Given the description of an element on the screen output the (x, y) to click on. 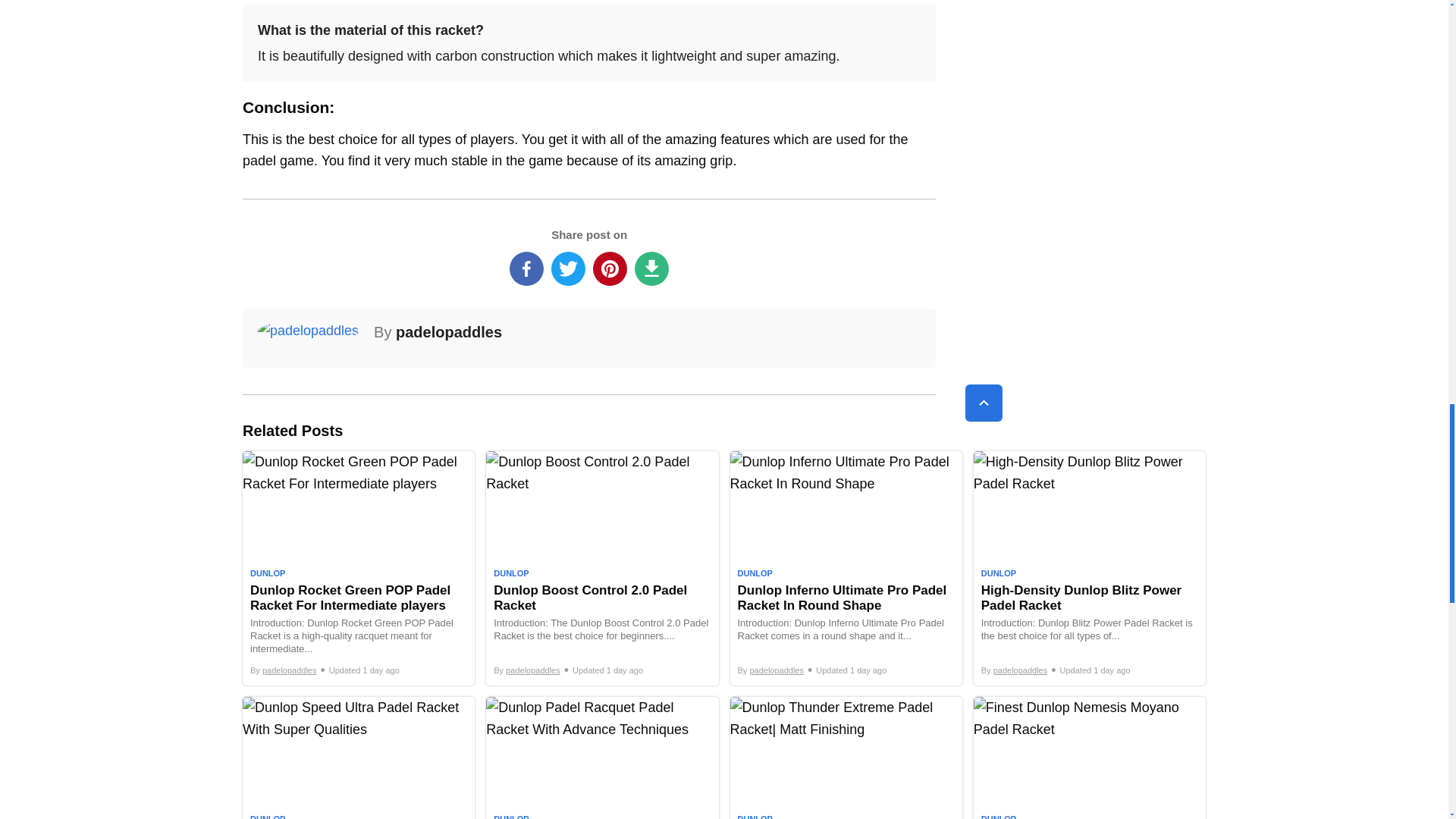
Share on Facebook (526, 268)
Download as PDF (651, 268)
Permanent Link to Dunlop Boost Control 2.0 Padel Racket (601, 568)
padelopaddles (449, 331)
Share on Twitter (568, 268)
Share on Pinterest (609, 268)
